Given the description of an element on the screen output the (x, y) to click on. 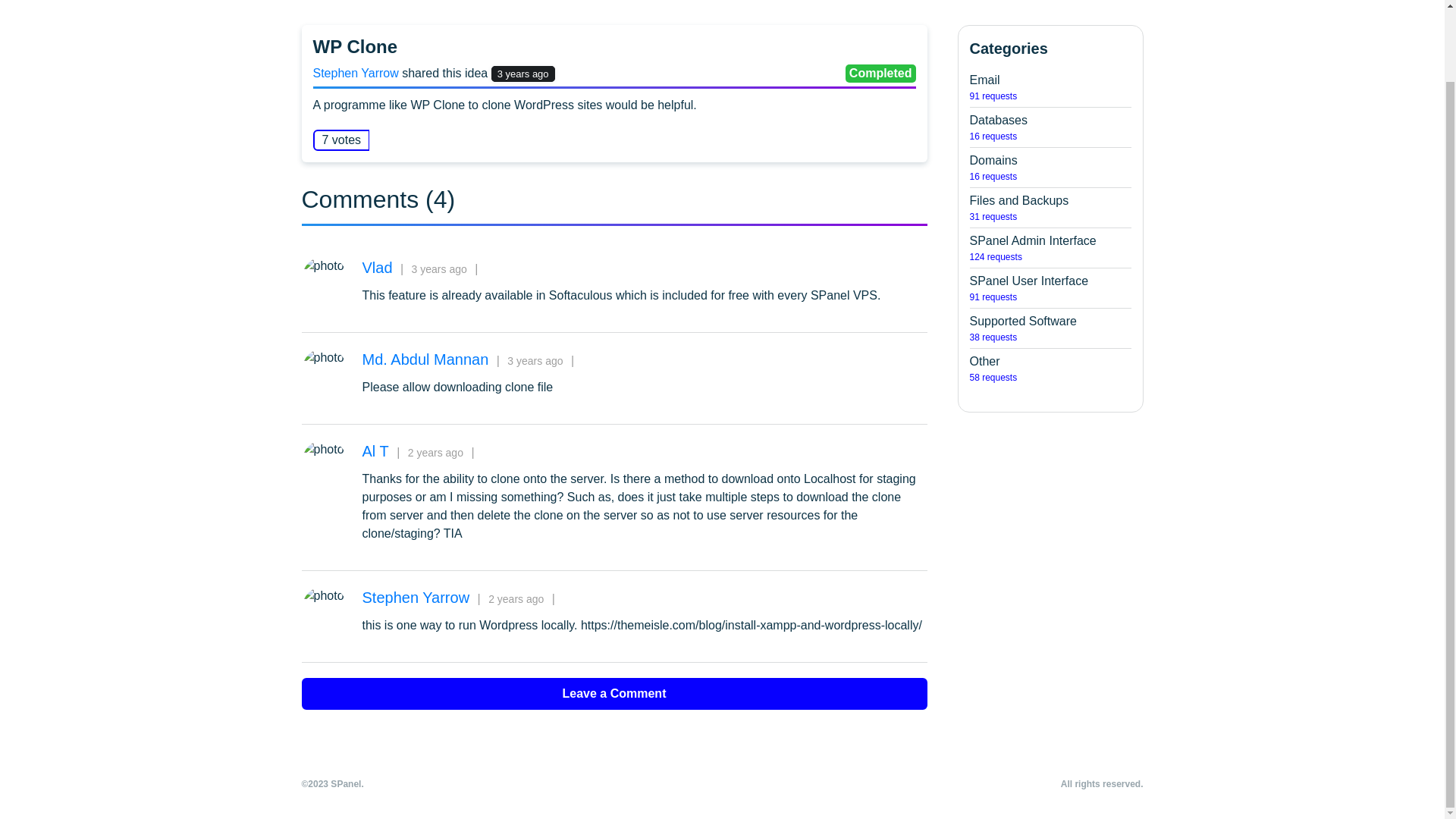
Stephen Yarrow (416, 598)
Vlad (1050, 127)
Stephen Yarrow (377, 268)
Al T (357, 72)
Md. Abdul Mannan (1050, 247)
